Given the description of an element on the screen output the (x, y) to click on. 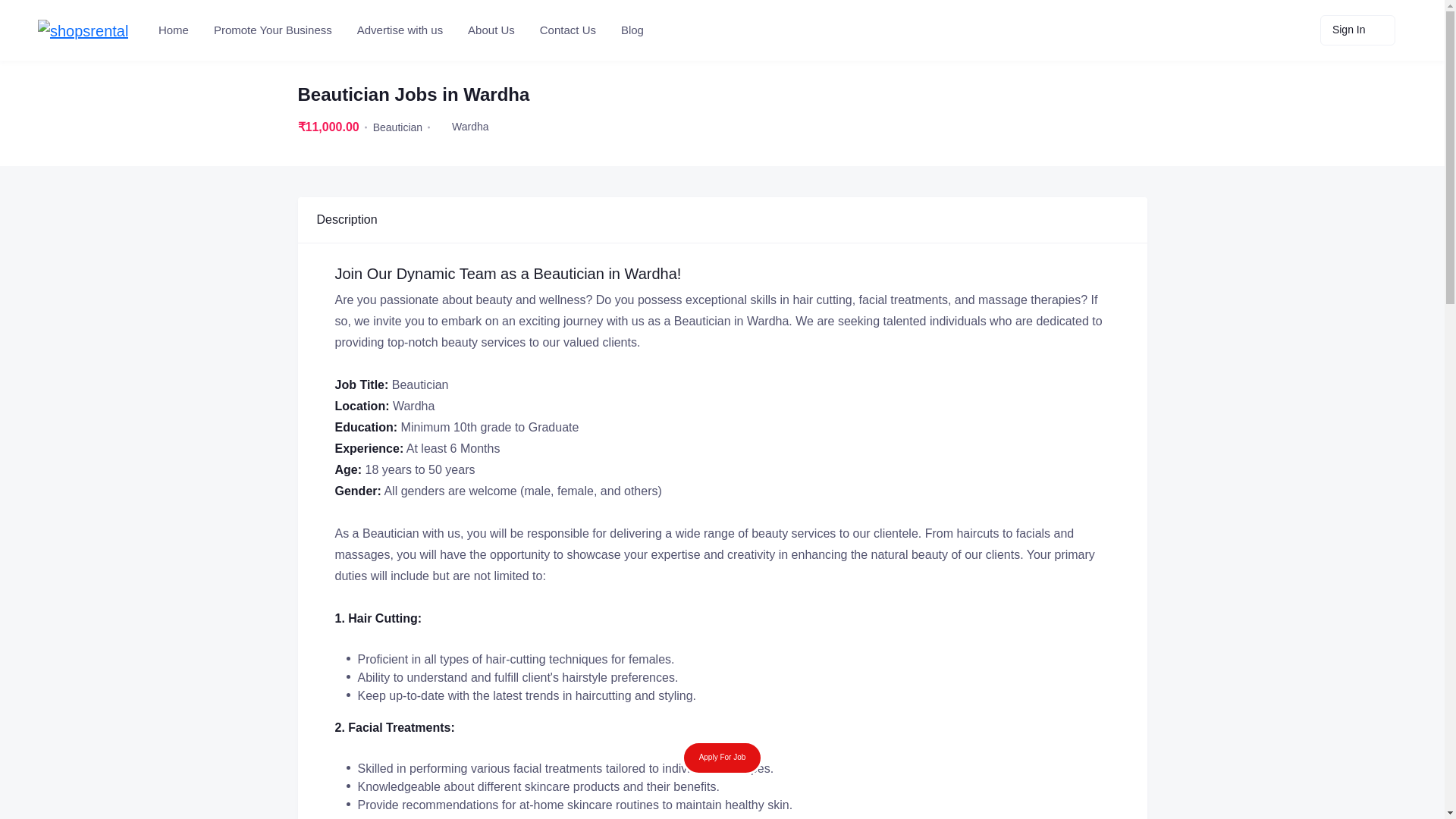
Blog (630, 30)
Home (172, 30)
Sign In (1357, 30)
Beautician (397, 127)
Promote Your Business (271, 30)
About Us (489, 30)
Advertise with us (398, 30)
Contact Us (566, 30)
Wardha (470, 126)
